Given the description of an element on the screen output the (x, y) to click on. 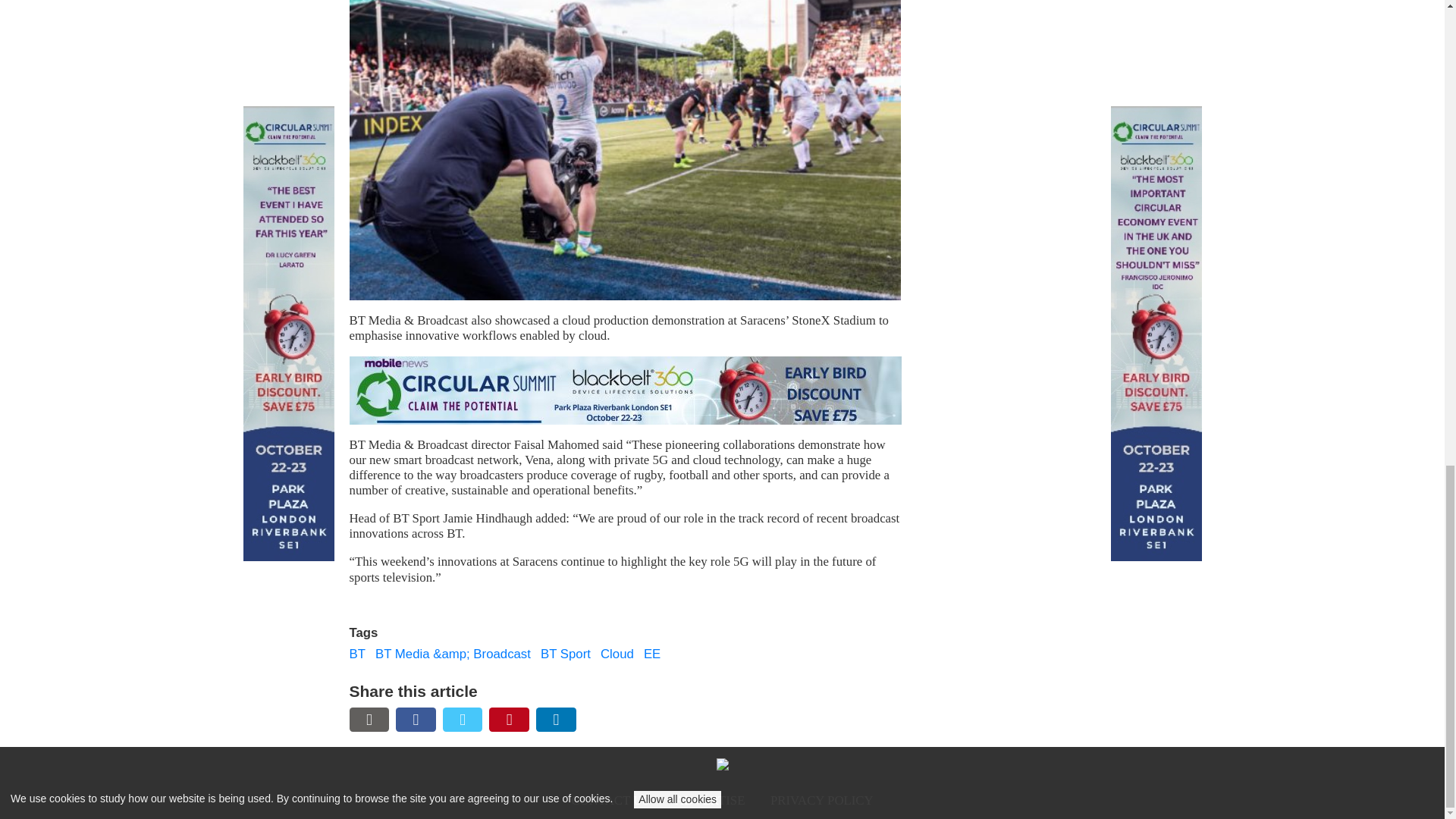
Cloud (616, 653)
BT Sport (565, 653)
EE (652, 653)
BT (357, 653)
